Given the description of an element on the screen output the (x, y) to click on. 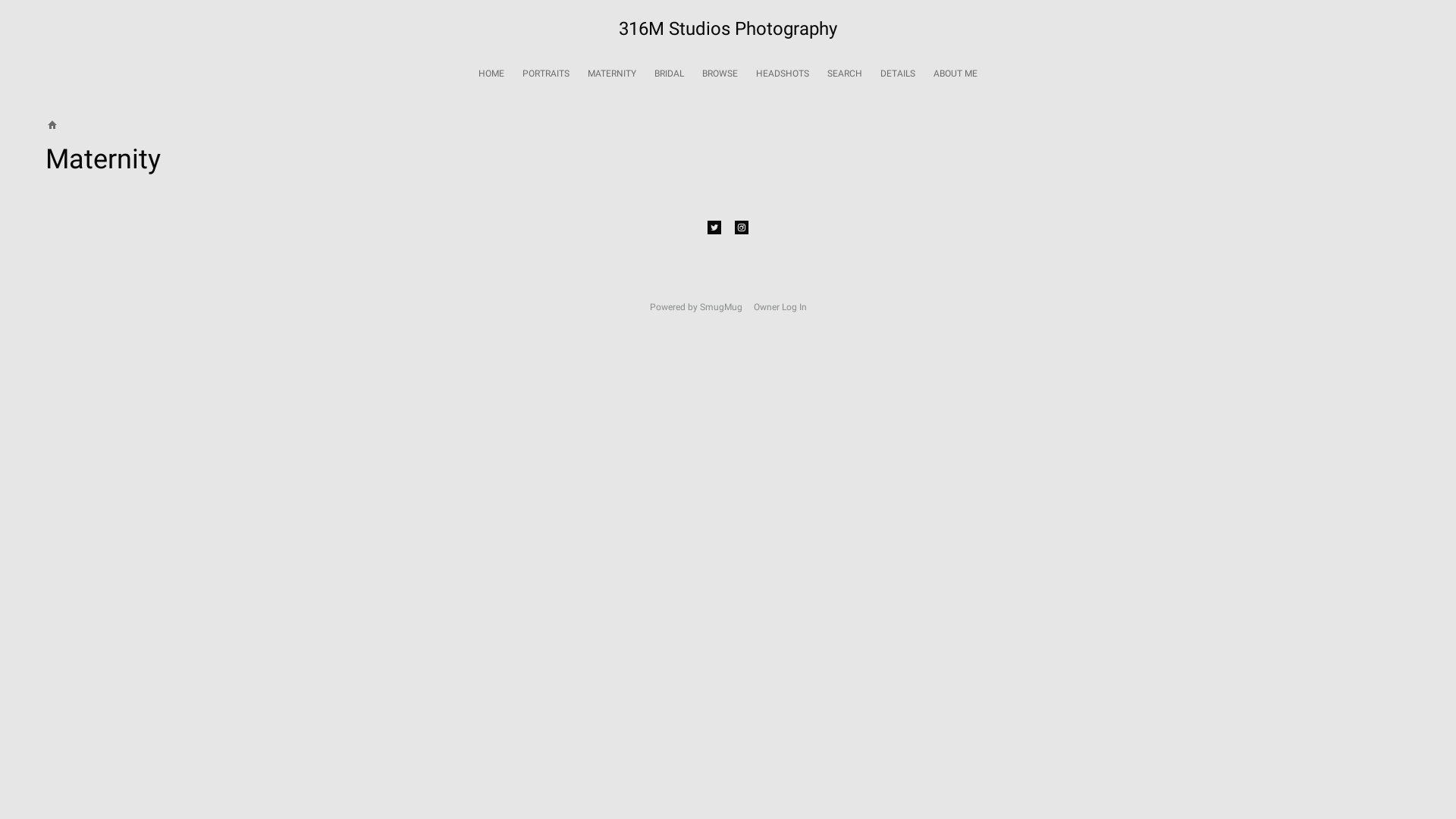
PORTRAITS Element type: text (545, 73)
Powered by SmugMug Element type: text (696, 306)
DETAILS Element type: text (897, 73)
BRIDAL Element type: text (669, 73)
MATERNITY Element type: text (611, 73)
BROWSE Element type: text (719, 73)
Owner Log In Element type: text (779, 306)
316M Studios Photography Element type: text (727, 31)
SEARCH Element type: text (844, 73)
ABOUT ME Element type: text (955, 73)
HOME Element type: text (491, 73)
HEADSHOTS Element type: text (782, 73)
